Given the description of an element on the screen output the (x, y) to click on. 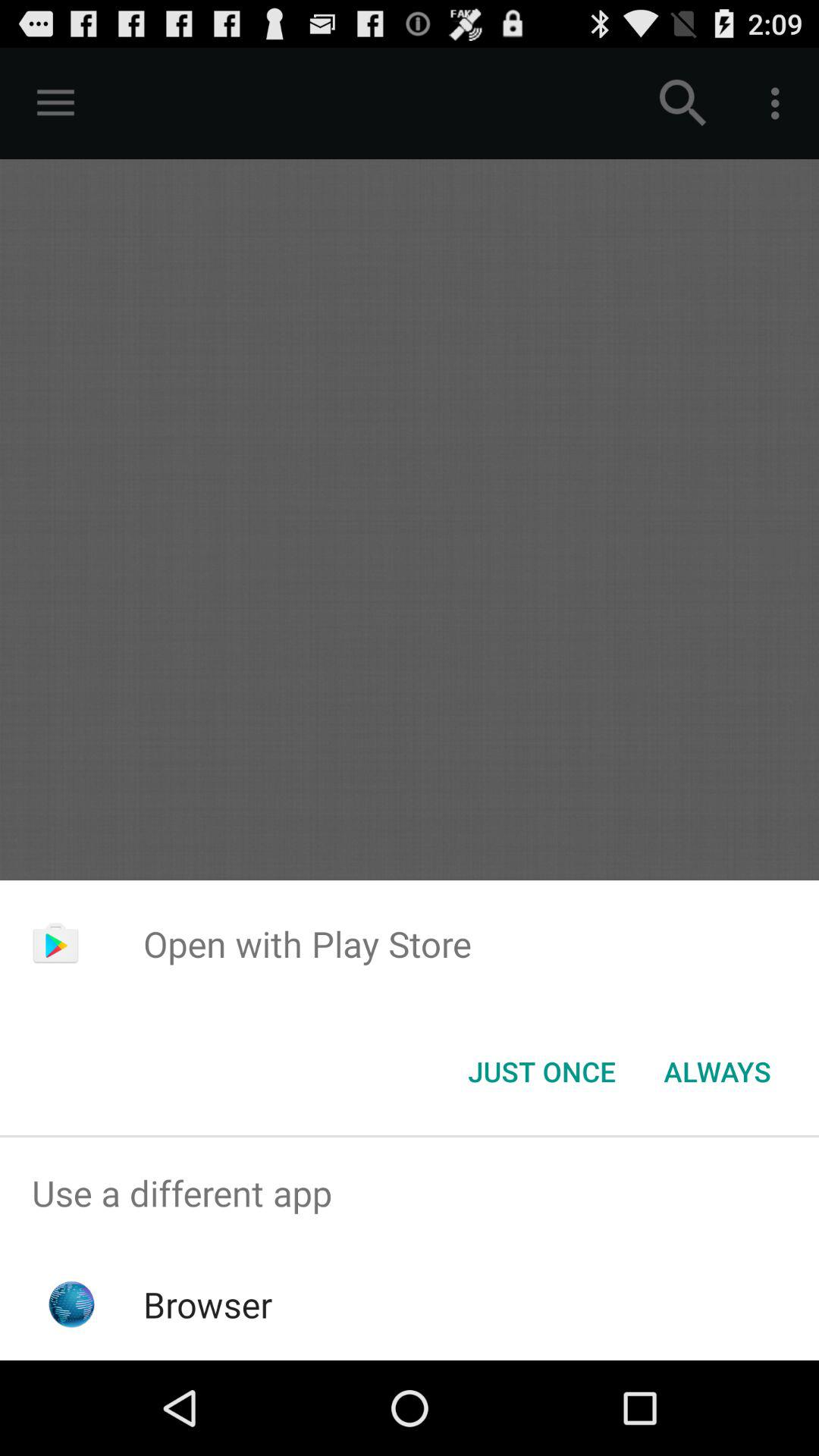
turn on just once icon (541, 1071)
